Given the description of an element on the screen output the (x, y) to click on. 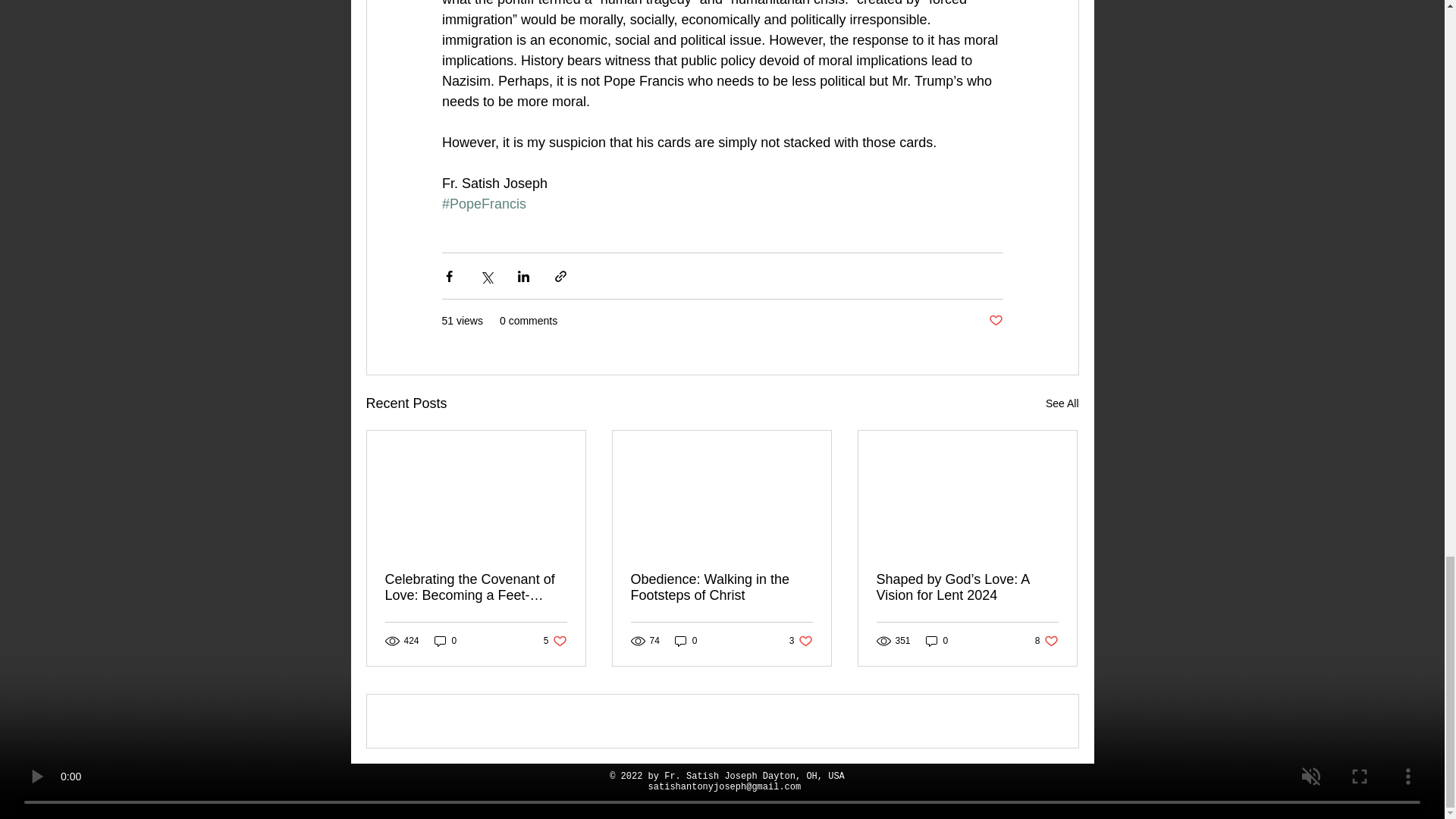
See All (1046, 640)
0 (555, 640)
Post not marked as liked (1061, 403)
0 (937, 640)
Obedience: Walking in the Footsteps of Christ (995, 320)
0 (800, 640)
